Given the description of an element on the screen output the (x, y) to click on. 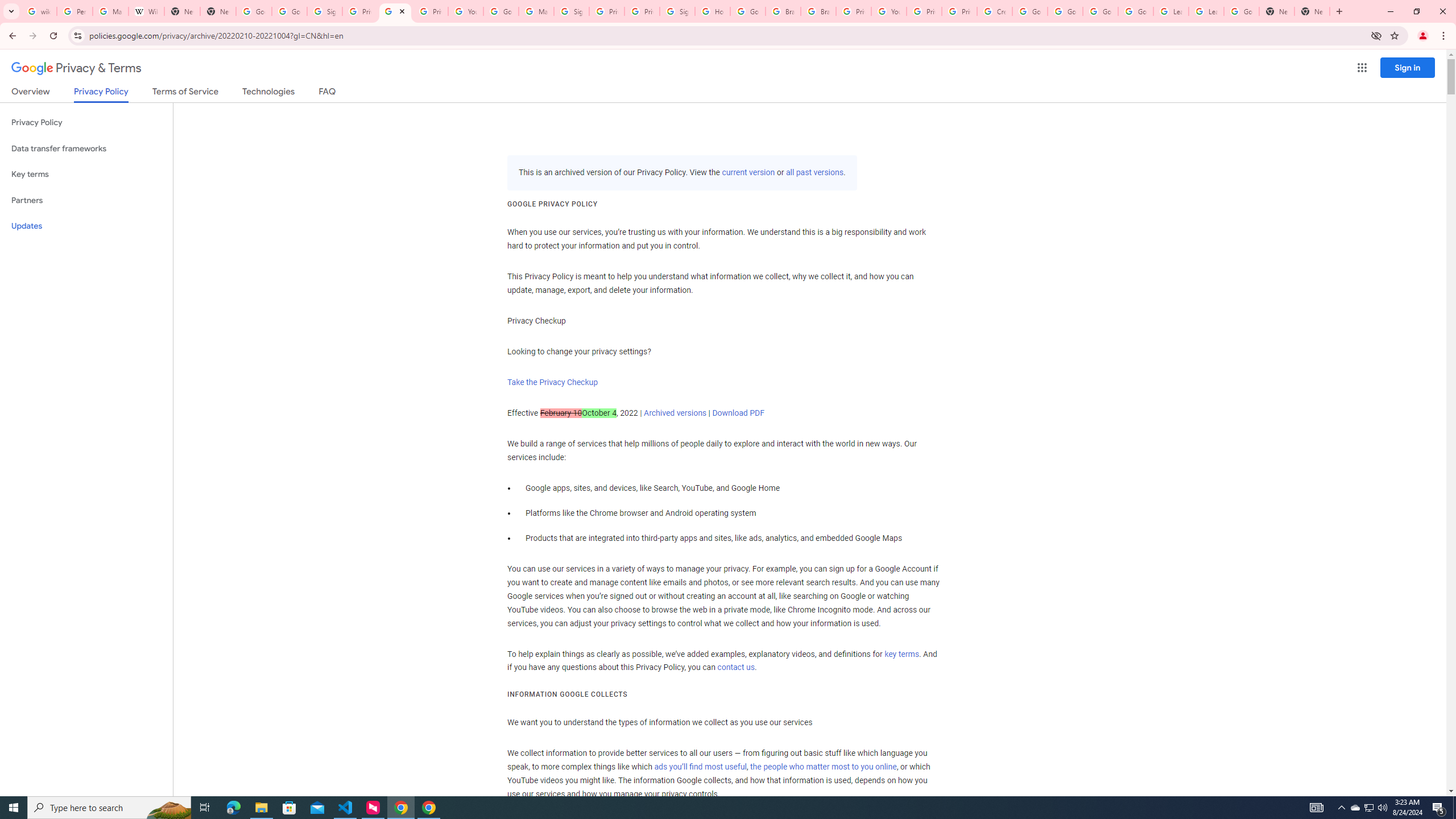
FAQ (327, 93)
Create your Google Account (994, 11)
Google Account Help (1099, 11)
Third-party cookies blocked (1376, 35)
